Given the description of an element on the screen output the (x, y) to click on. 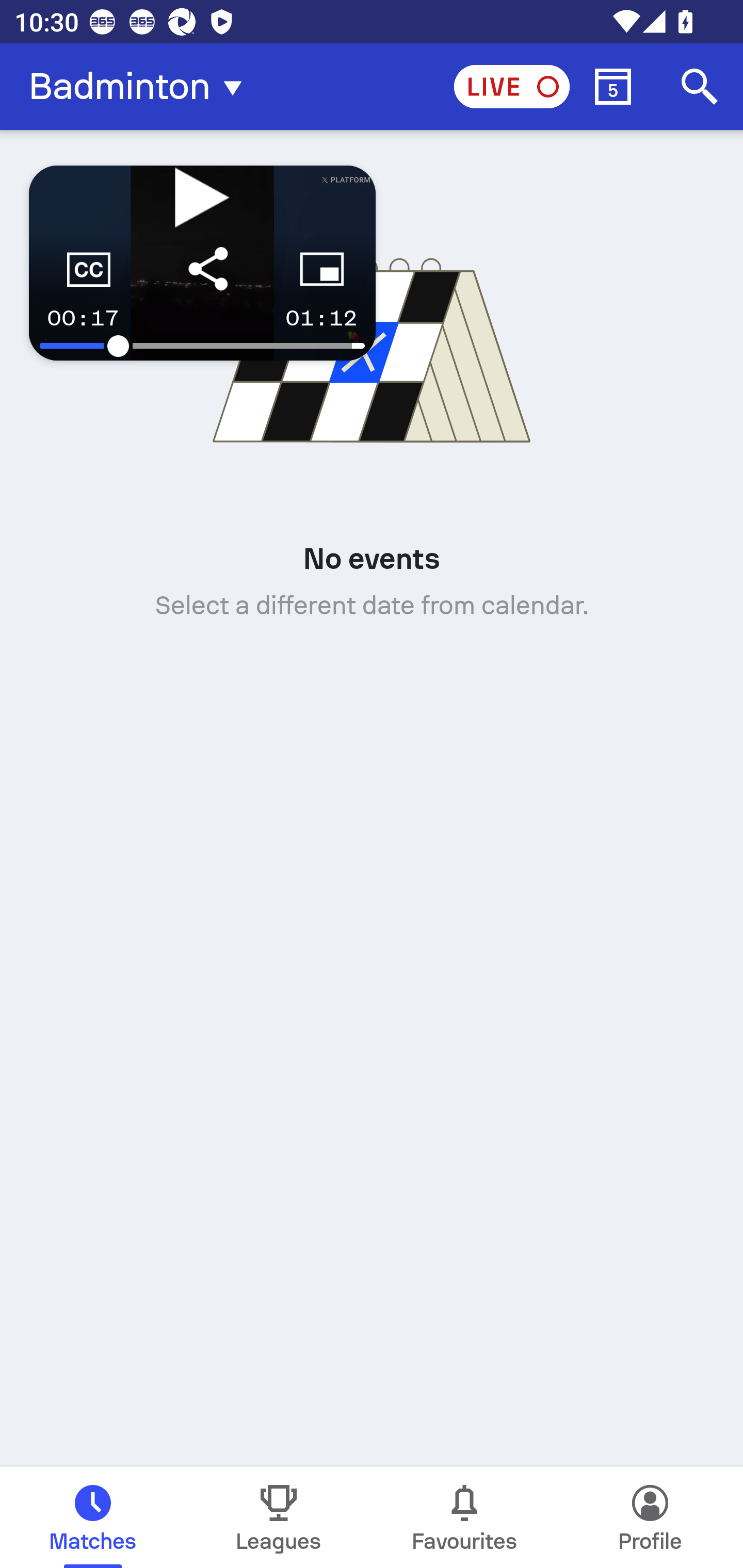
Badminton (141, 86)
Calendar (612, 86)
Search (699, 86)
No events Select a different date from calendar. (371, 418)
Leagues (278, 1517)
Favourites (464, 1517)
Profile (650, 1517)
